Given the description of an element on the screen output the (x, y) to click on. 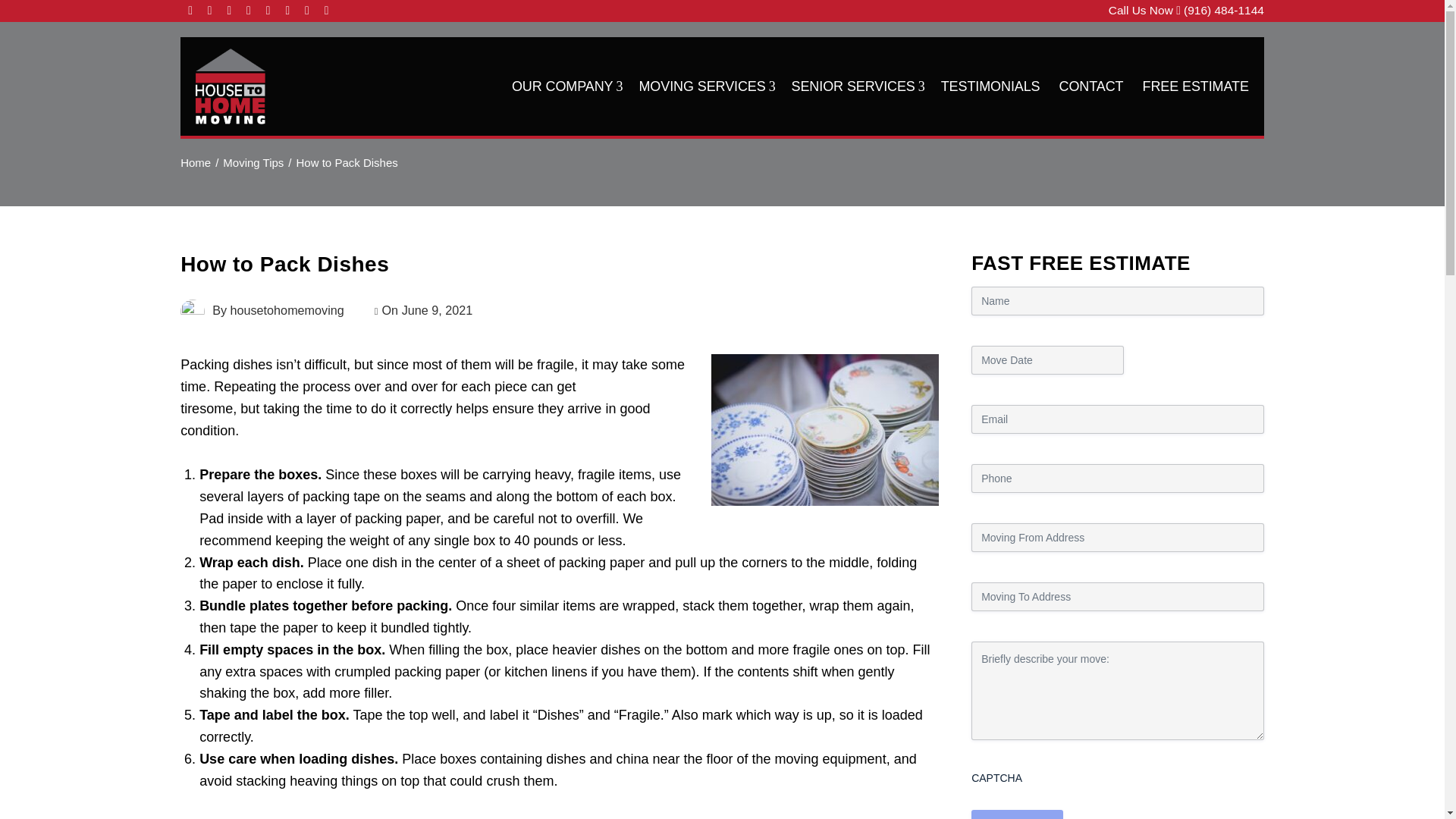
Free Estimate (1016, 814)
OUR COMPANY (566, 85)
FREE ESTIMATE (1194, 85)
CONTACT (1091, 85)
SENIOR SERVICES (856, 85)
MOVING SERVICES (705, 85)
TESTIMONIALS (990, 85)
